Given the description of an element on the screen output the (x, y) to click on. 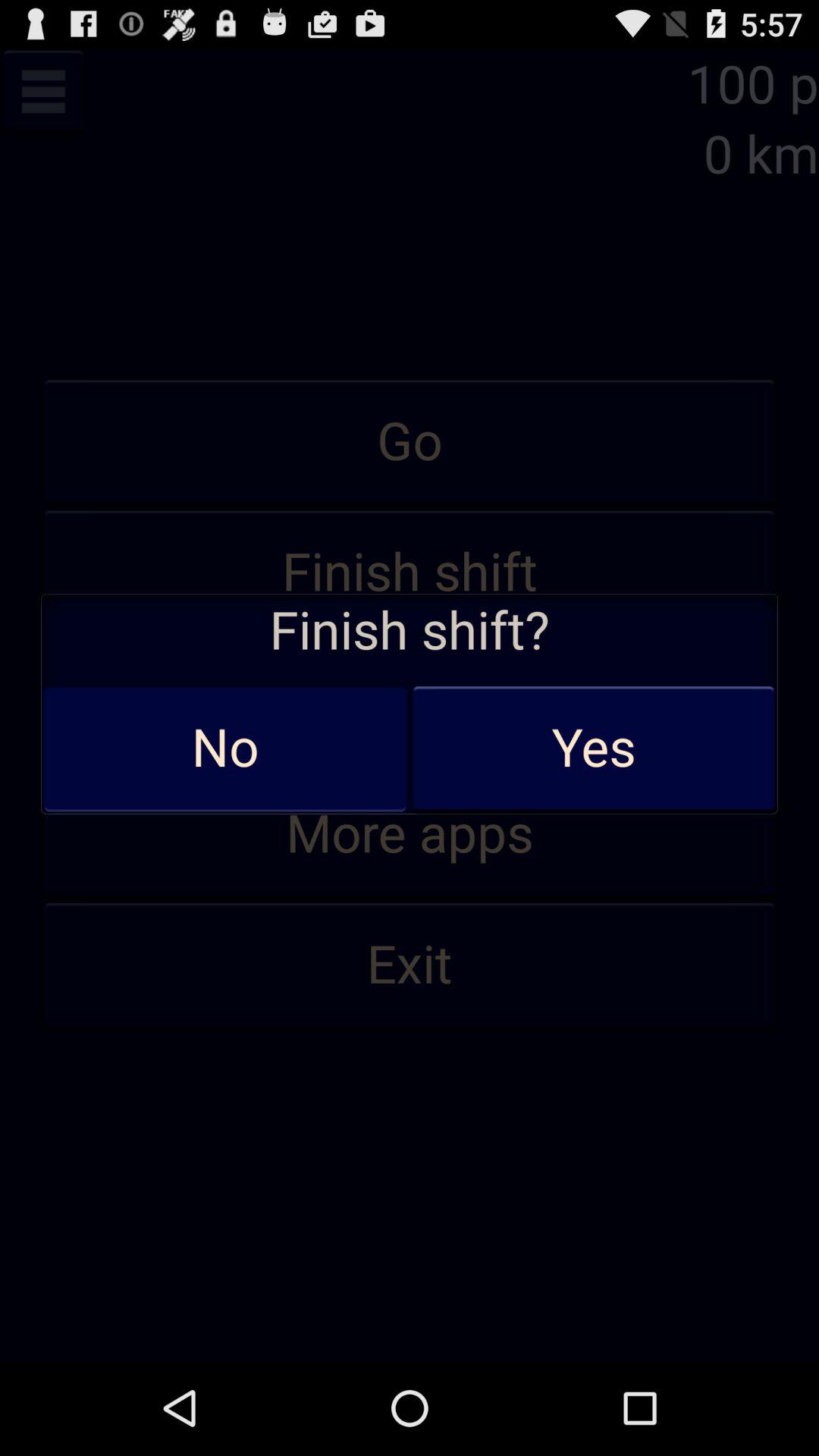
click the no app (224, 748)
